Given the description of an element on the screen output the (x, y) to click on. 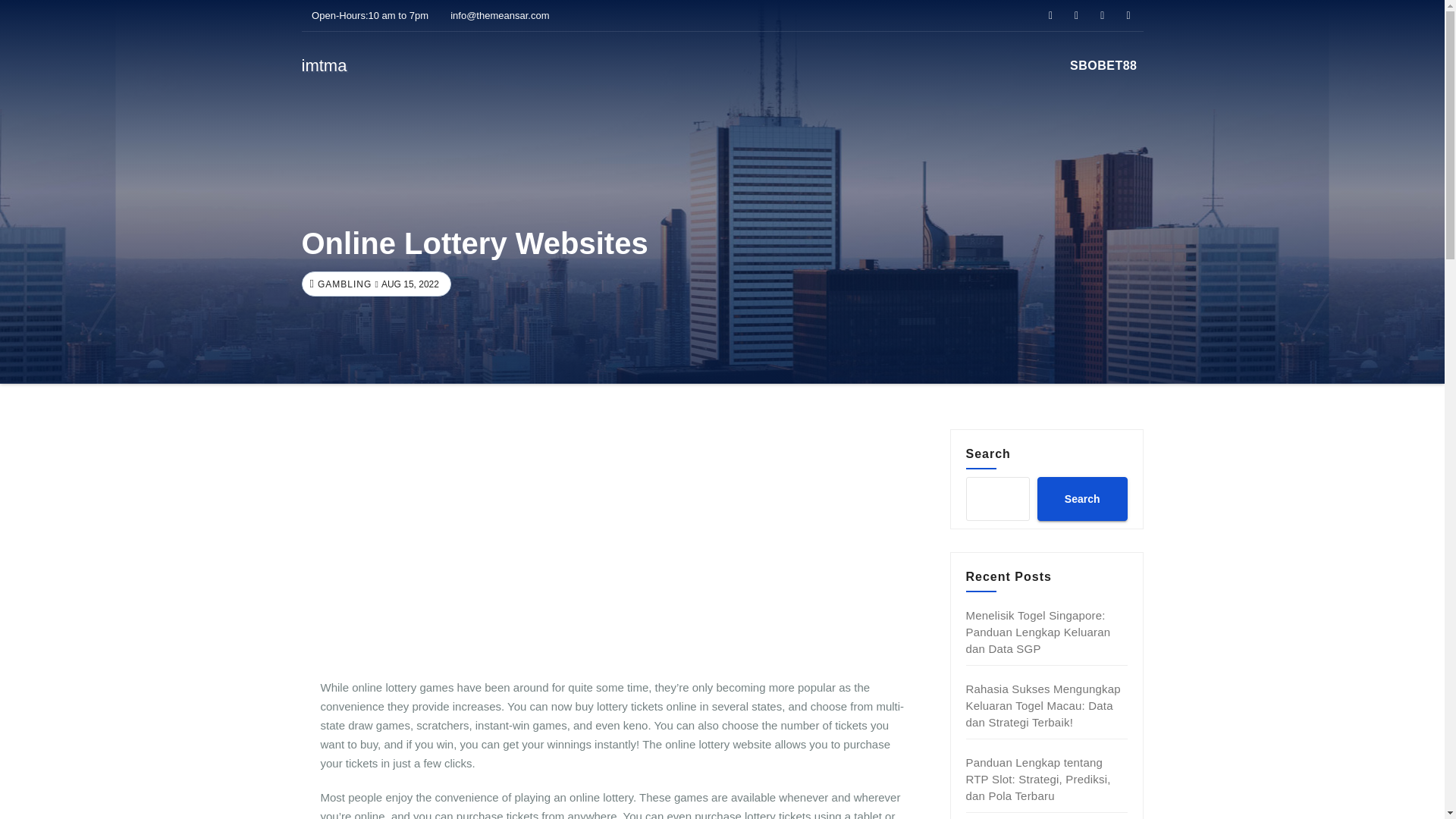
SBOBET88 (1103, 65)
imtma (324, 65)
Search (1081, 498)
GAMBLING (342, 284)
SBOBET88 (1103, 65)
Open-Hours:10 am to 7pm (365, 15)
